Given the description of an element on the screen output the (x, y) to click on. 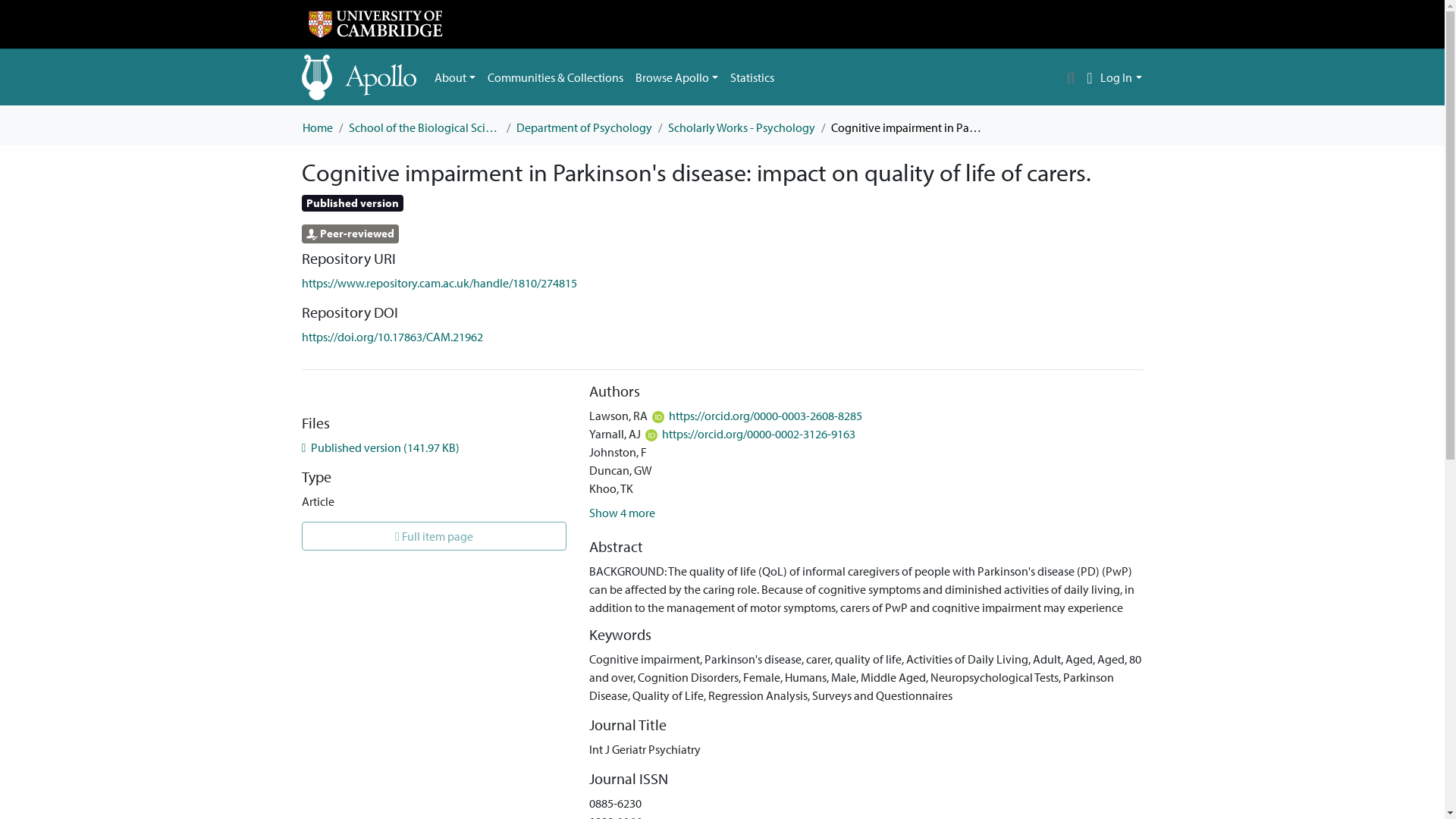
Scholarly Works - Psychology (739, 126)
Language switch (1089, 76)
School of the Biological Sciences (424, 126)
Browse Apollo (675, 77)
Show 4 more (622, 512)
Department of Psychology (582, 126)
Statistics (751, 77)
Statistics (751, 77)
Home (316, 126)
About (454, 77)
Search (1070, 76)
Log In (1120, 77)
Full item page (434, 535)
